Given the description of an element on the screen output the (x, y) to click on. 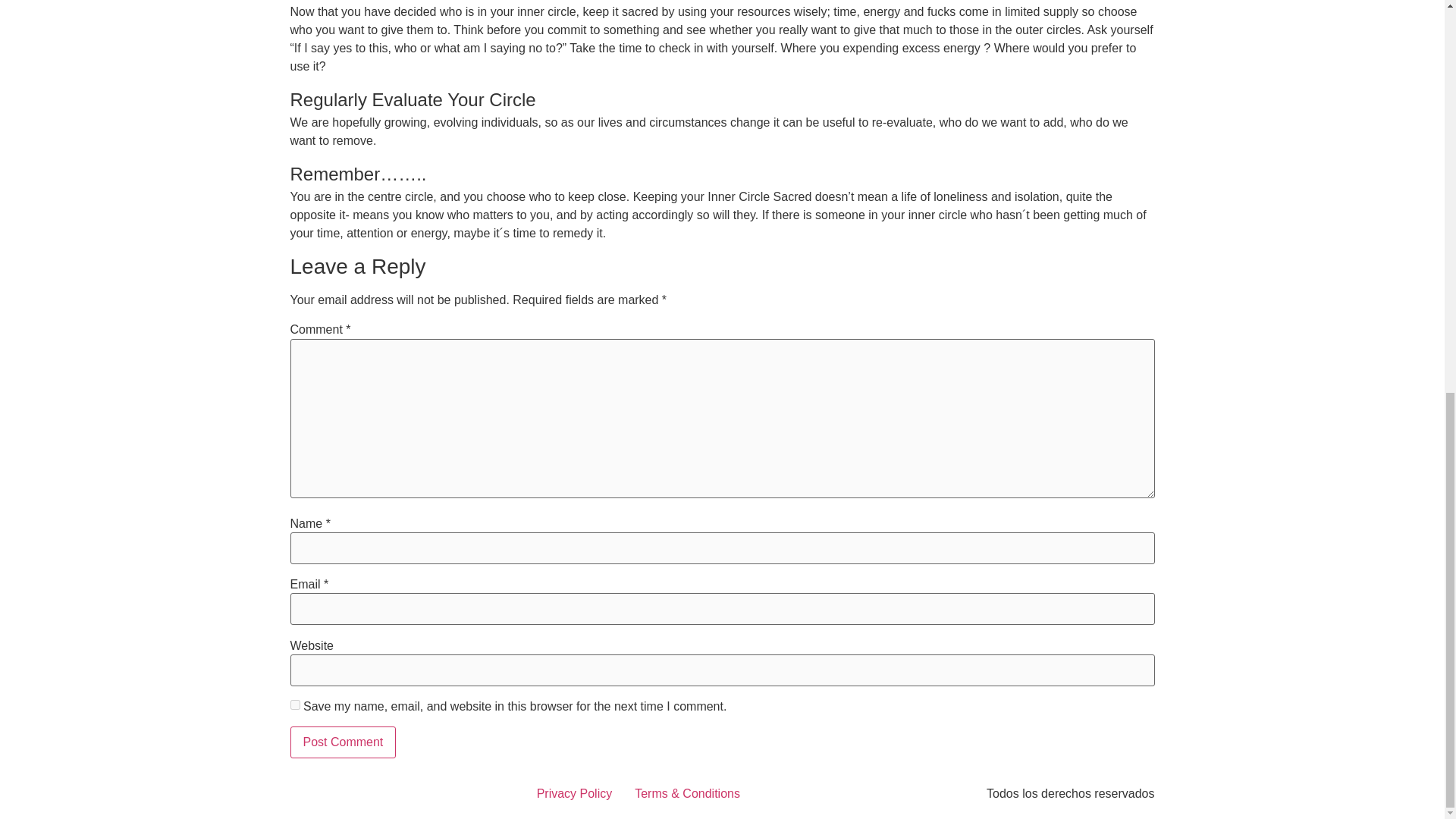
yes (294, 705)
Post Comment (342, 742)
Post Comment (342, 742)
Privacy Policy (574, 793)
